Given the description of an element on the screen output the (x, y) to click on. 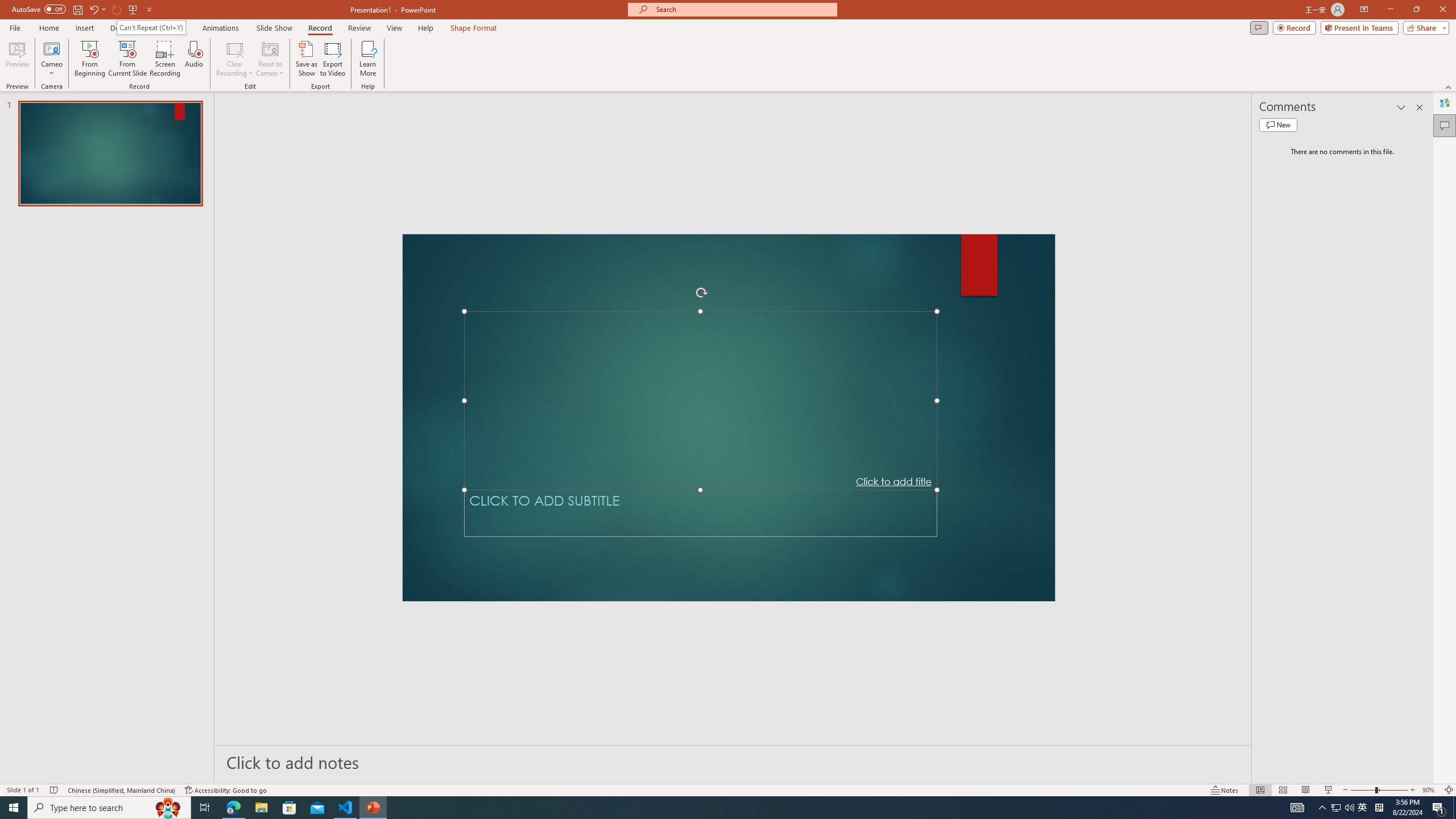
Save as Show (306, 58)
